Given the description of an element on the screen output the (x, y) to click on. 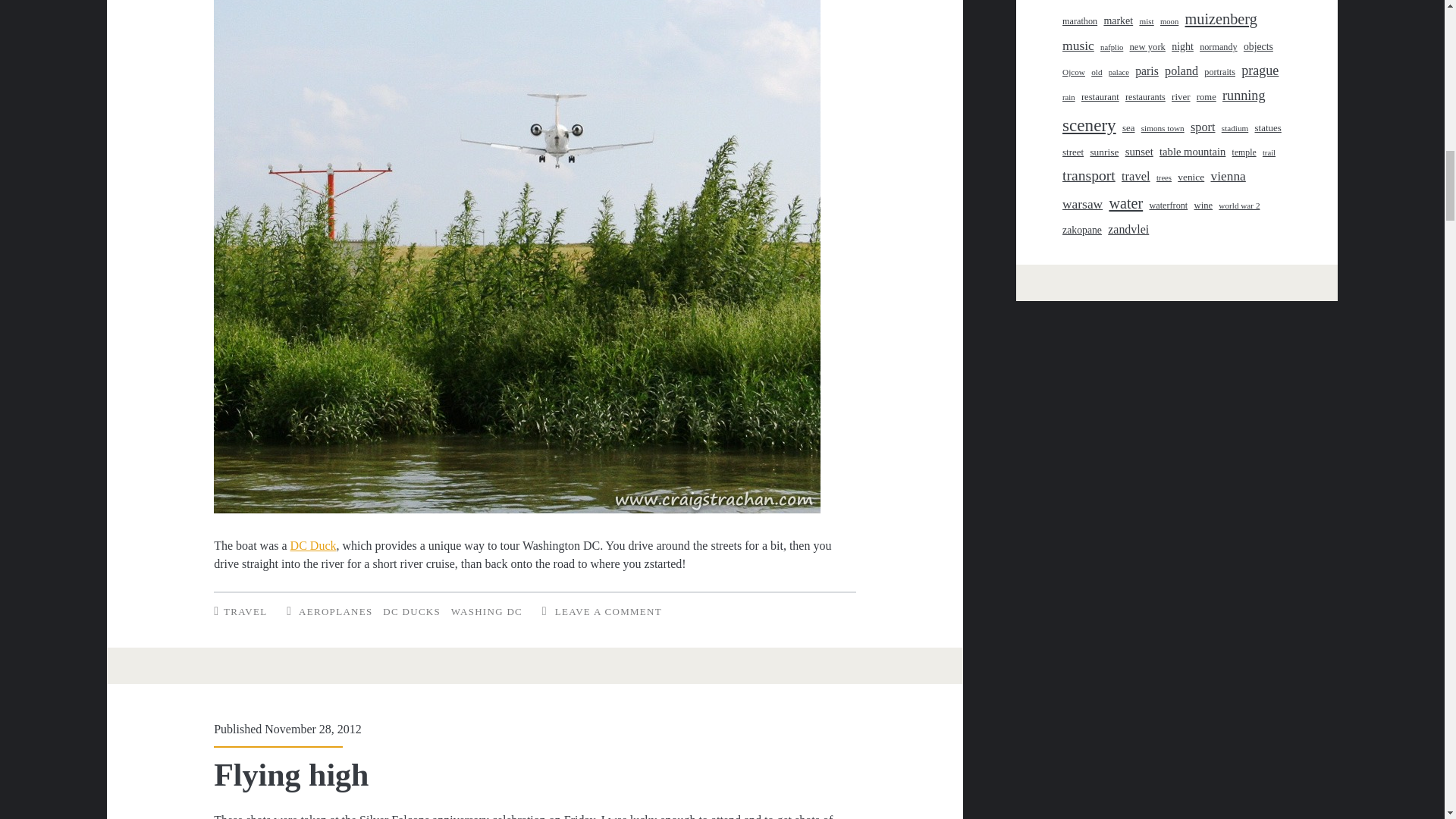
DC DUCKS (411, 611)
TRAVEL (245, 611)
View all posts tagged dc ducks (411, 611)
View all posts in Travel (245, 611)
DC Duck (312, 545)
View all posts tagged aeroplanes (335, 611)
WASHING DC (486, 611)
View all posts tagged washing dc (486, 611)
LEAVE A COMMENT (608, 611)
AEROPLANES (335, 611)
Flying high (291, 774)
